Given the description of an element on the screen output the (x, y) to click on. 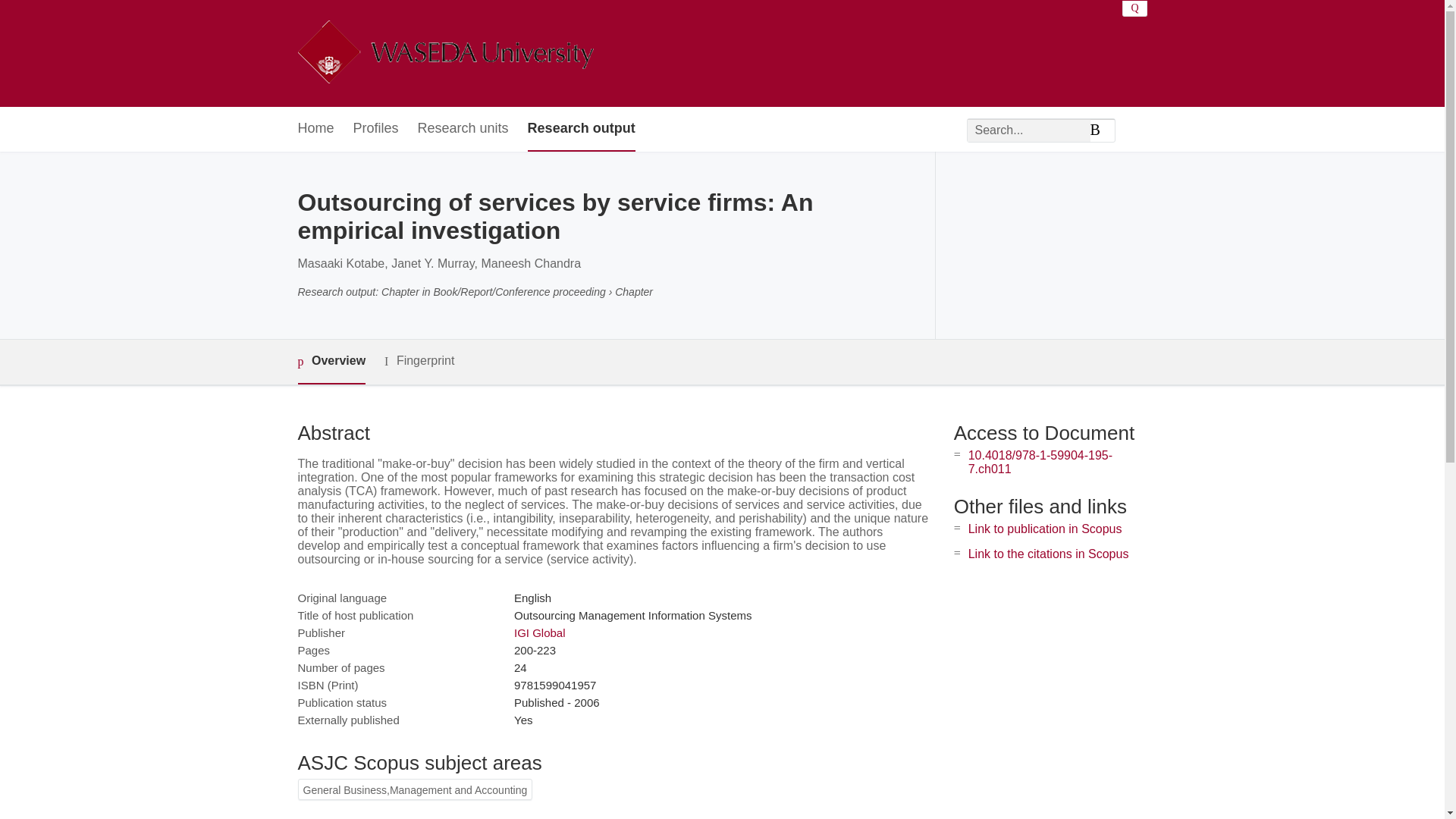
IGI Global (539, 632)
Link to publication in Scopus (1045, 528)
Waseda University Home (444, 53)
Overview (331, 361)
Research units (462, 129)
Fingerprint (419, 361)
Profiles (375, 129)
Link to the citations in Scopus (1048, 553)
Research output (580, 129)
